Given the description of an element on the screen output the (x, y) to click on. 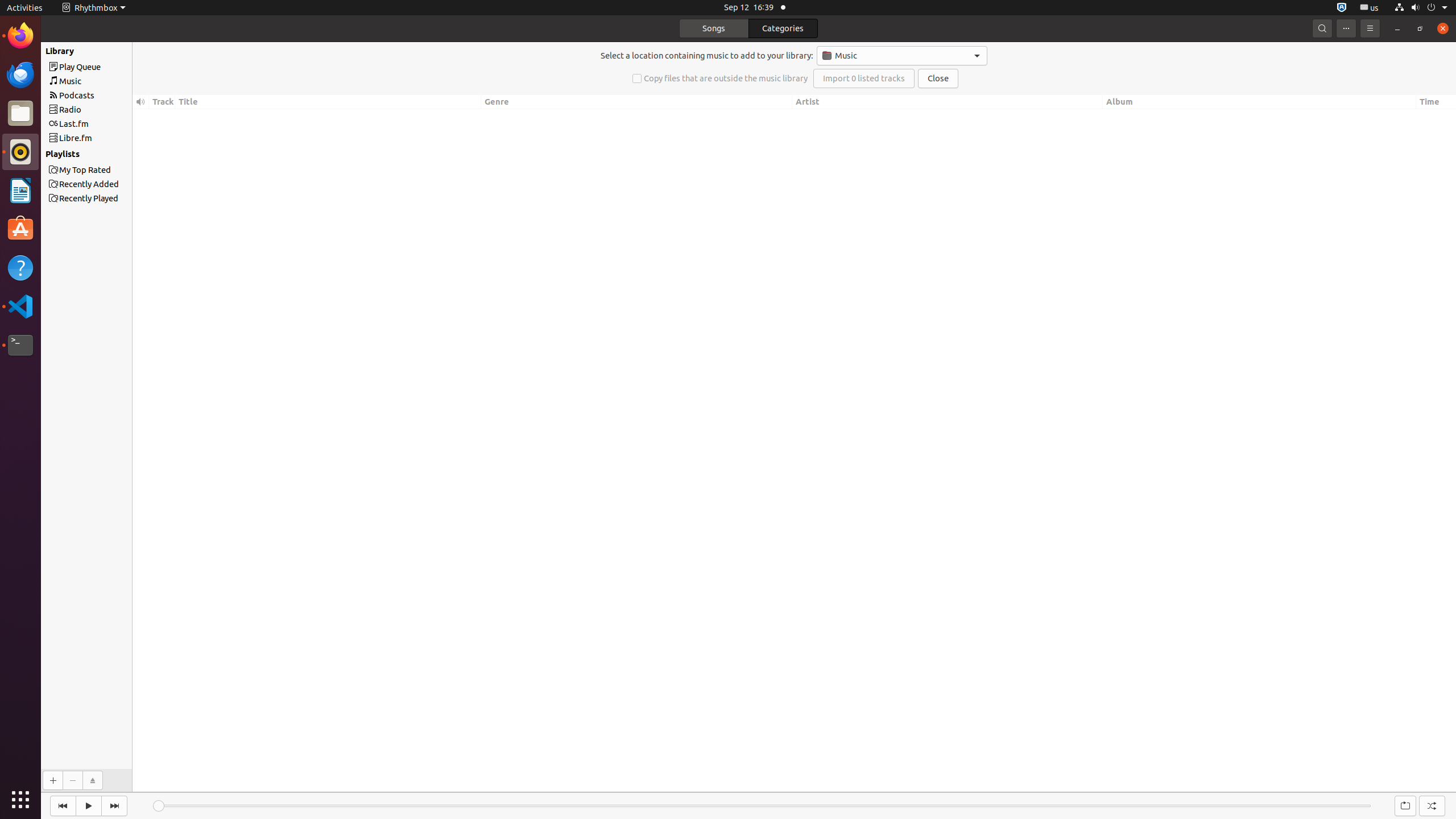
Restore Element type: push-button (1419, 27)
Firefox Web Browser Element type: push-button (20, 35)
luyi1 Element type: label (75, 50)
Copy files that are outside the music library Element type: check-box (719, 78)
